Given the description of an element on the screen output the (x, y) to click on. 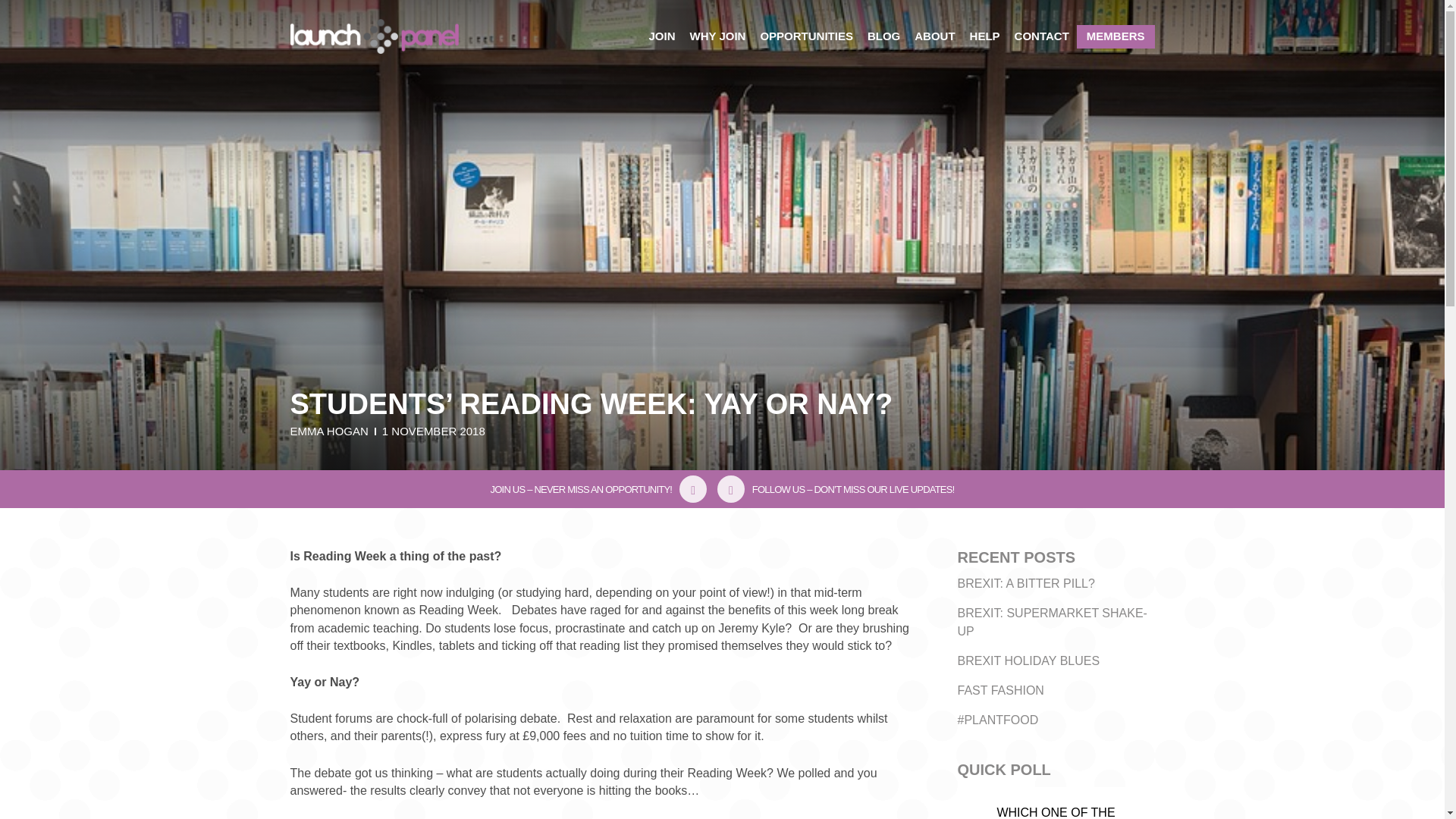
OPPORTUNITIES (806, 36)
CONTACT (1041, 36)
BLOG (883, 36)
HELP (984, 36)
MEMBERS (1115, 36)
FAST FASHION (999, 689)
BREXIT: A BITTER PILL? (1025, 583)
WHY JOIN (717, 36)
BREXIT: SUPERMARKET SHAKE-UP (1051, 622)
BREXIT HOLIDAY BLUES (1027, 660)
ABOUT (934, 36)
JOIN (661, 36)
